Given the description of an element on the screen output the (x, y) to click on. 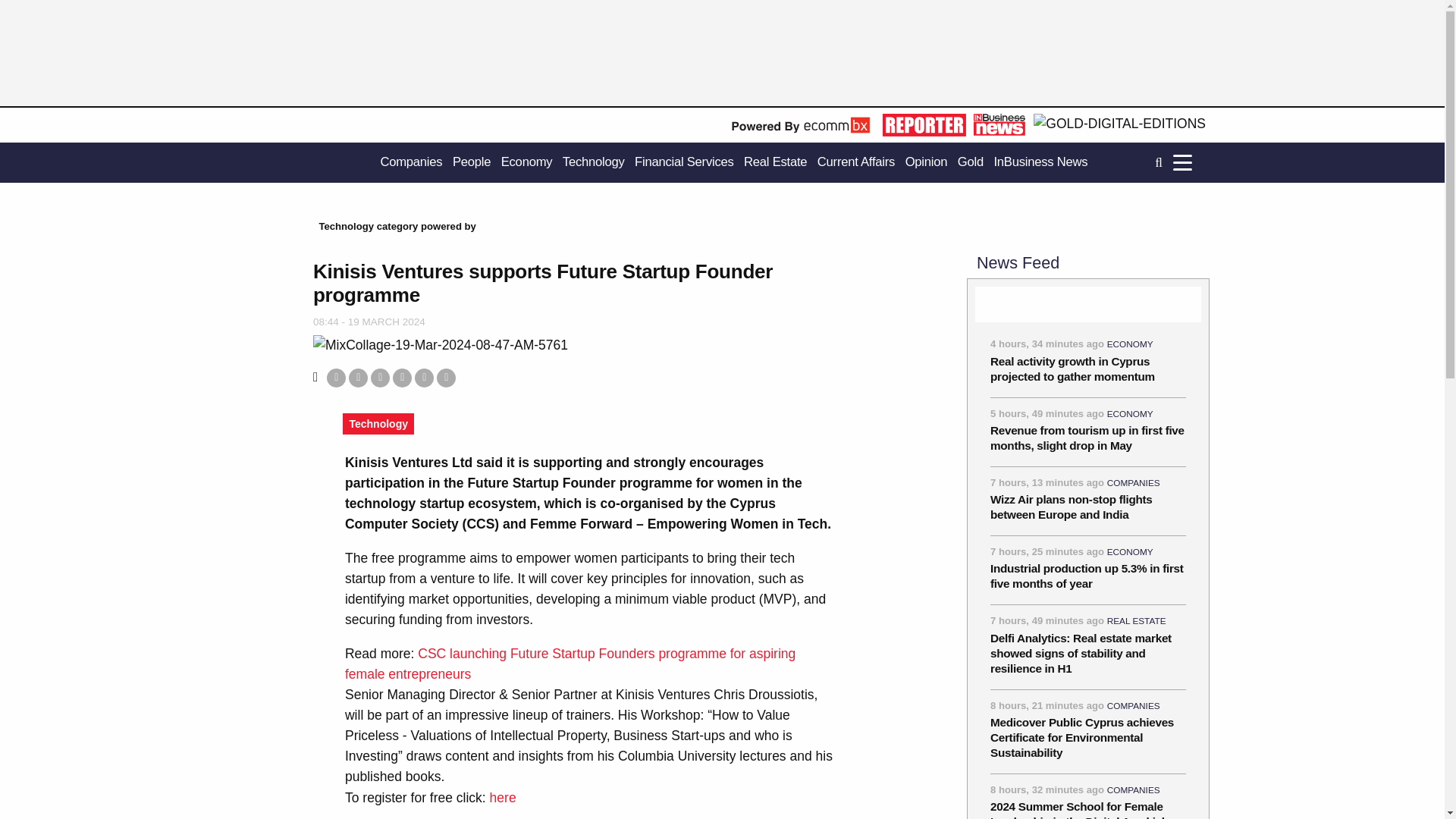
Companies (411, 162)
Economy (526, 162)
Current Affairs (855, 162)
Real Estate (775, 162)
Opinion (926, 162)
MixCollage-19-Mar-2024-08-47-AM-5761 (440, 344)
Technology (593, 162)
Gold (970, 162)
Financial Services (684, 162)
People (471, 162)
InBusiness News (1040, 162)
